Given the description of an element on the screen output the (x, y) to click on. 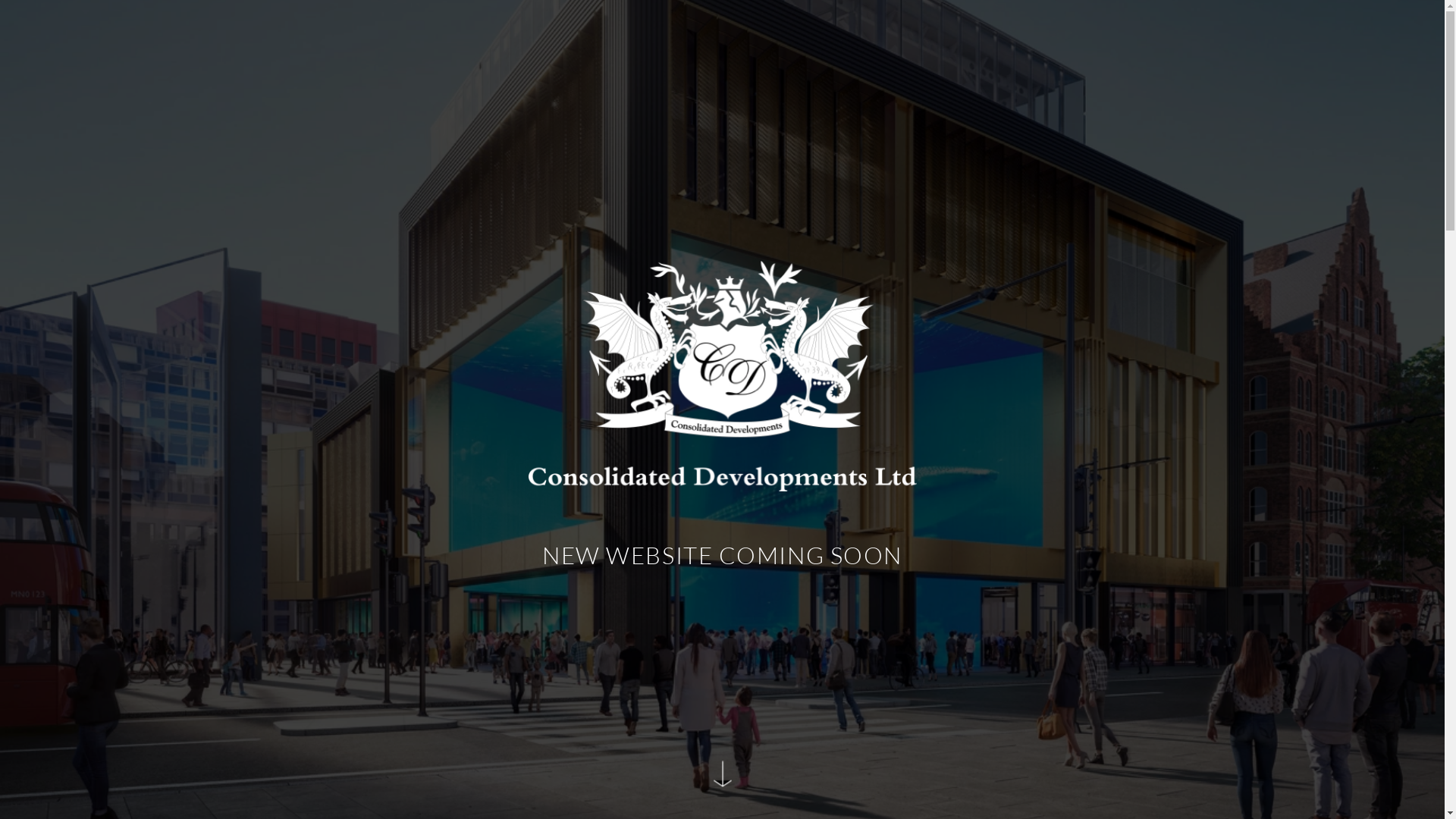
Scroll down to content Element type: hover (721, 780)
